Given the description of an element on the screen output the (x, y) to click on. 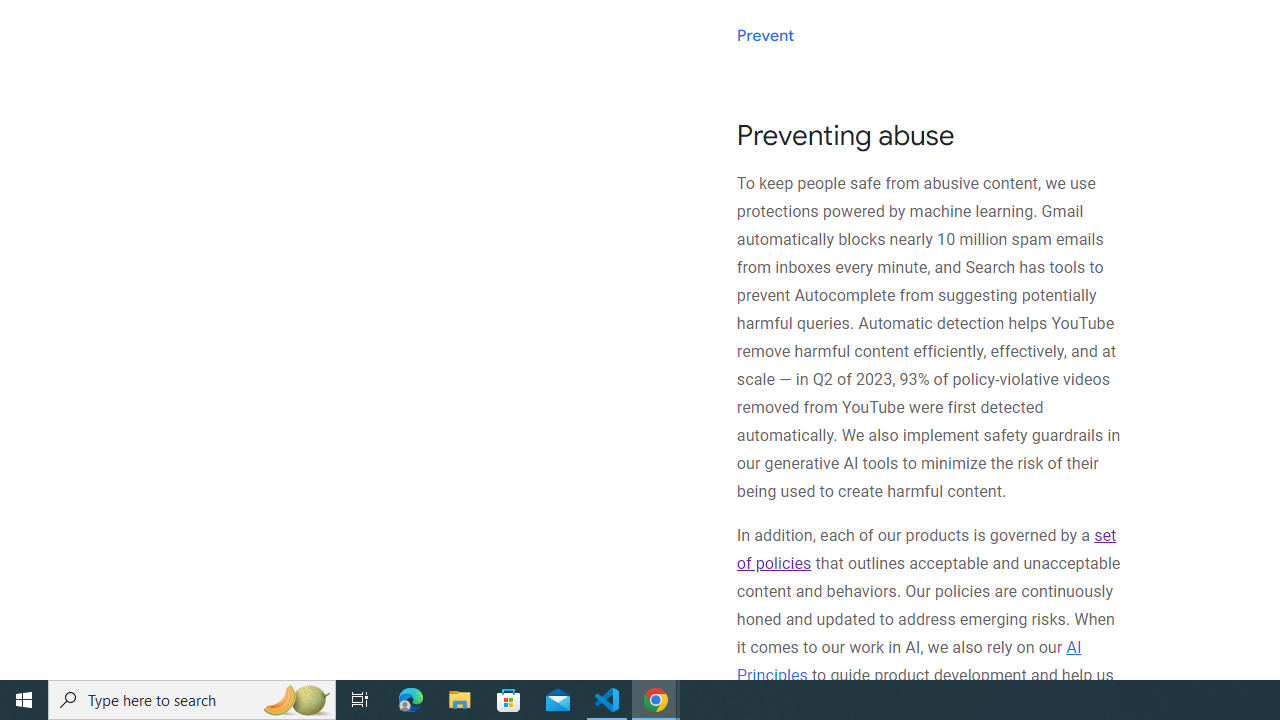
set of policies (926, 549)
AI Principles (908, 660)
